Given the description of an element on the screen output the (x, y) to click on. 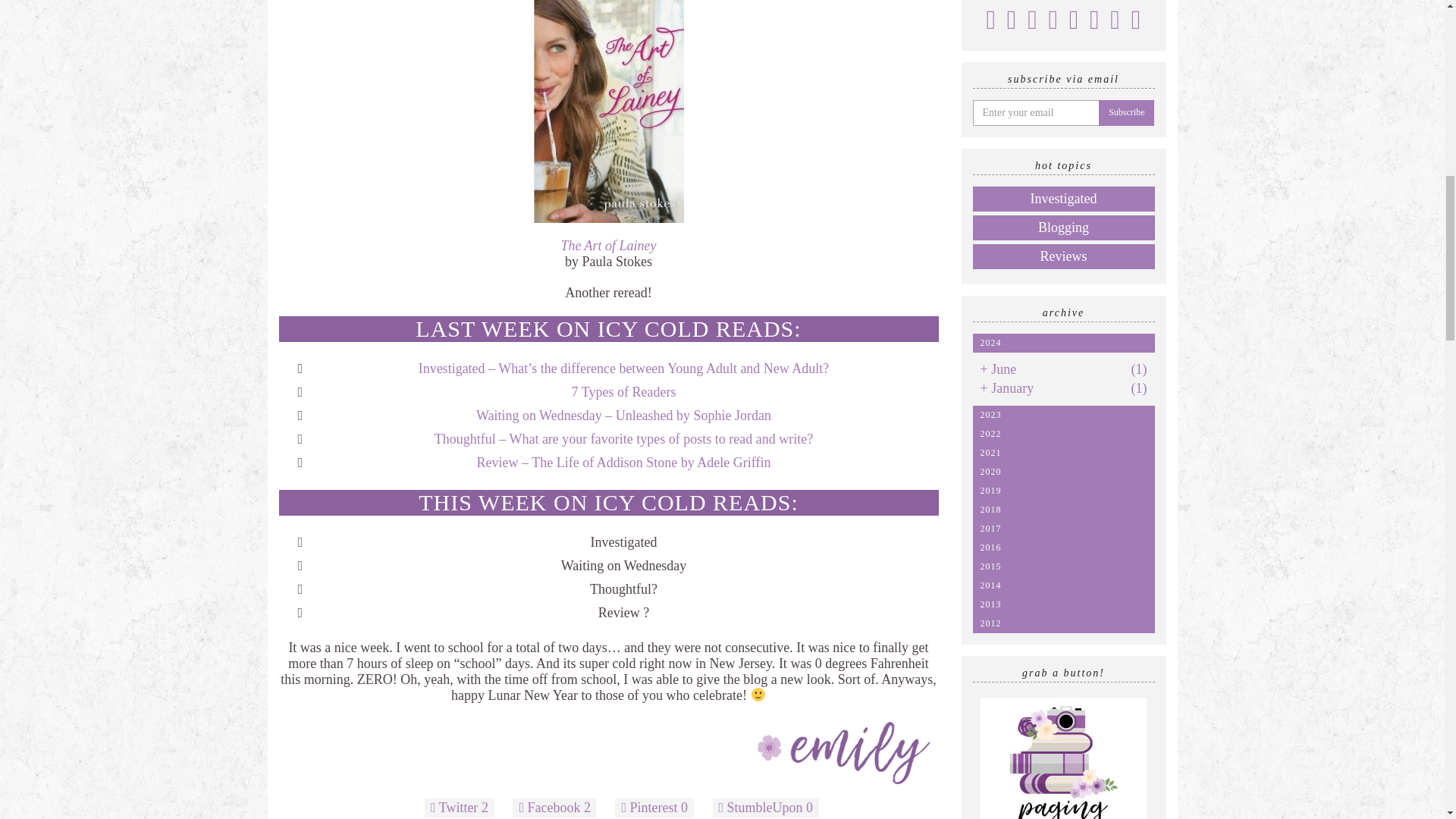
Facebook 2 (554, 807)
Twitter 2 (460, 807)
StumbleUpon 0 (766, 807)
7 Types of Readers (624, 391)
Subscribe (1126, 112)
The Art of Lainey (608, 245)
Paging Serenity Button (1063, 758)
Pinterest 0 (654, 807)
